Given the description of an element on the screen output the (x, y) to click on. 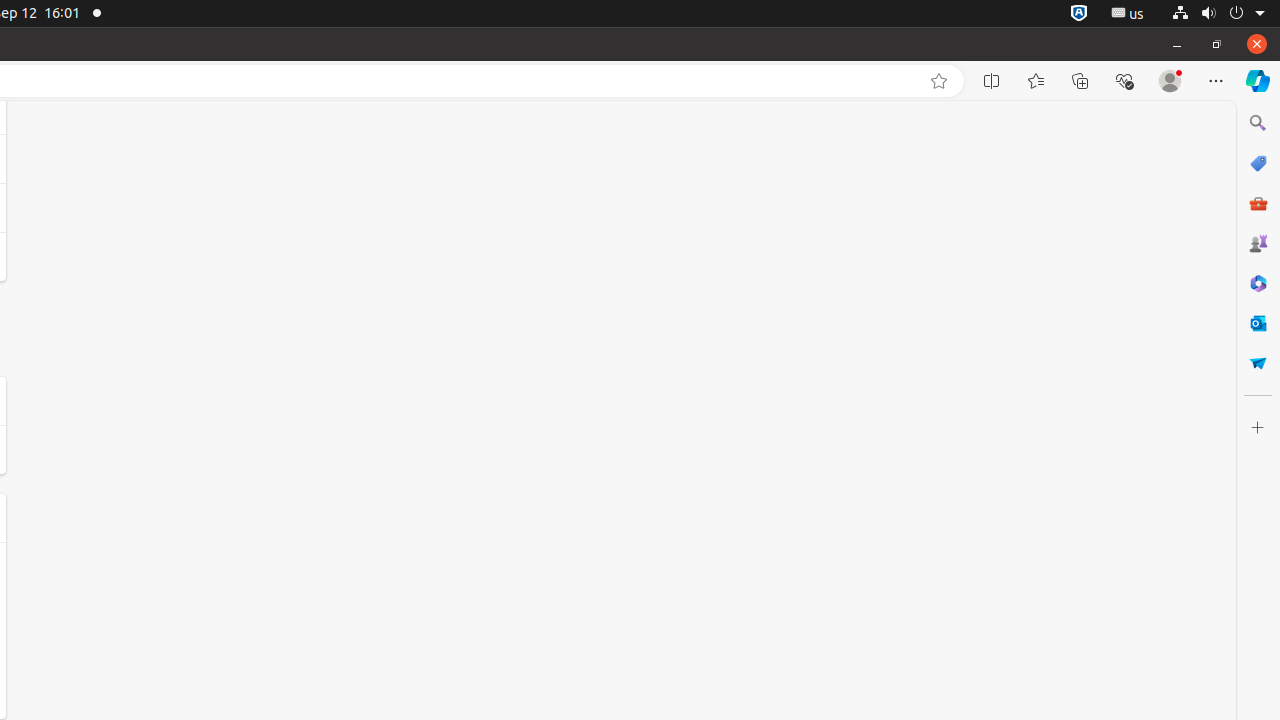
System Element type: menu (1218, 13)
Profile 1 Profile, Please sign in Element type: push-button (1170, 81)
Microsoft Shopping Element type: push-button (1258, 163)
:1.72/StatusNotifierItem Element type: menu (1079, 13)
Tools Element type: push-button (1258, 202)
